Given the description of an element on the screen output the (x, y) to click on. 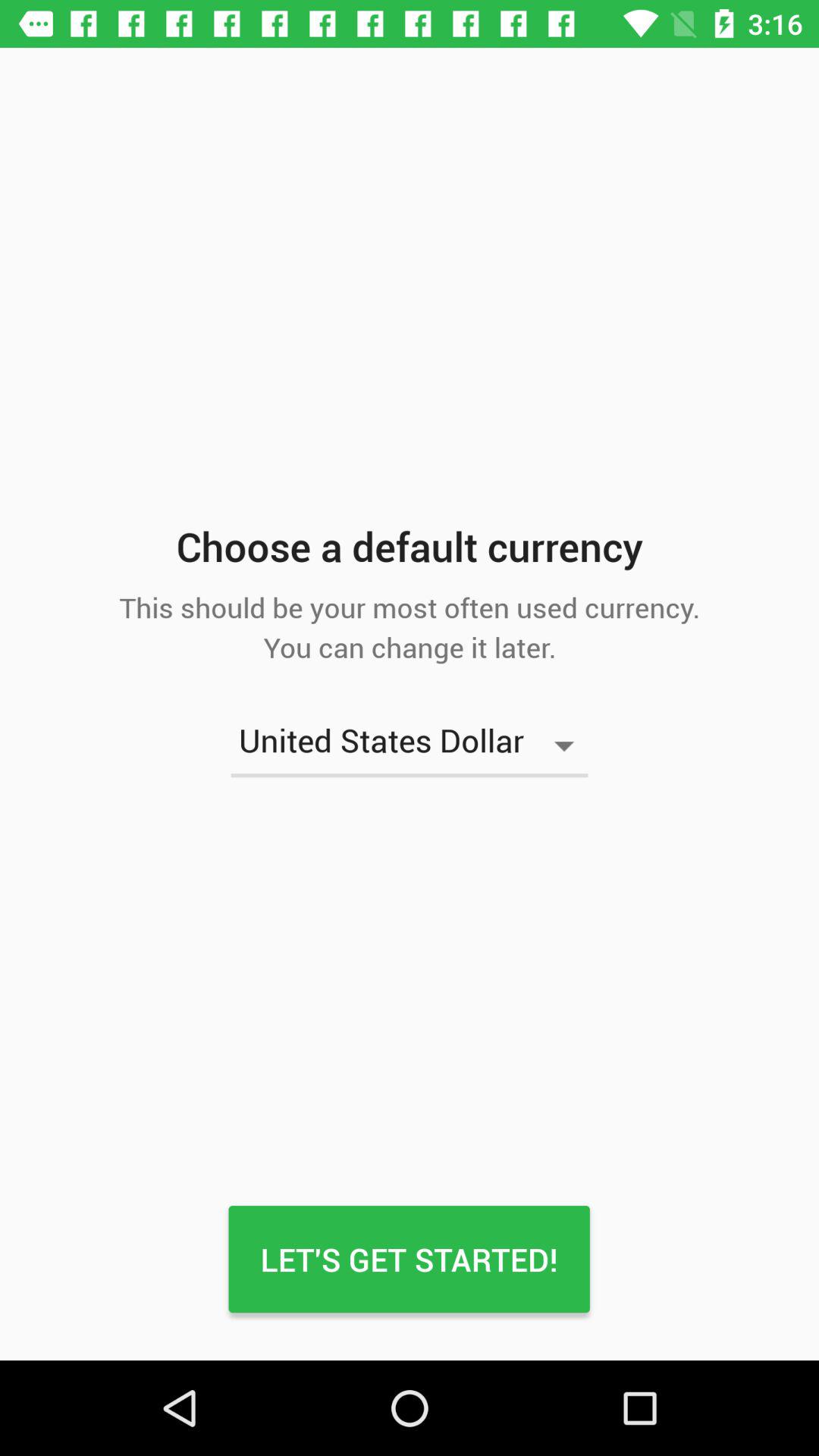
tap item below this should be item (409, 745)
